Given the description of an element on the screen output the (x, y) to click on. 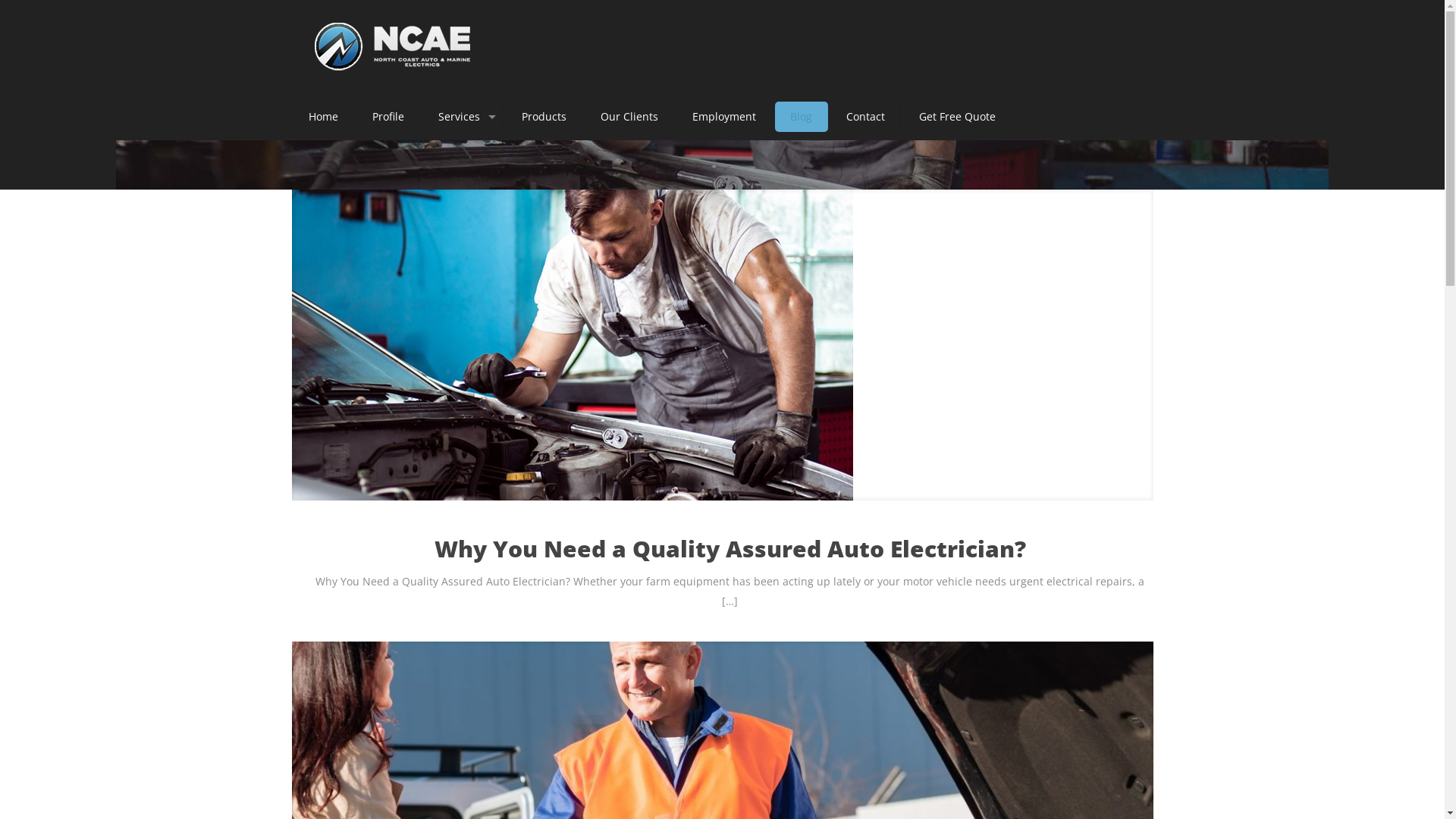
Why You Need a Quality Assured Auto Electrician? Element type: text (729, 548)
Employment Element type: text (723, 116)
Blog Element type: text (801, 116)
Our Clients Element type: text (629, 116)
North Coast Auto Electrics Element type: hover (391, 46)
Products Element type: text (544, 116)
Profile Element type: text (387, 116)
Get Free Quote Element type: text (956, 116)
Home Element type: text (322, 116)
Contact Element type: text (865, 116)
Services Element type: text (463, 116)
